Given the description of an element on the screen output the (x, y) to click on. 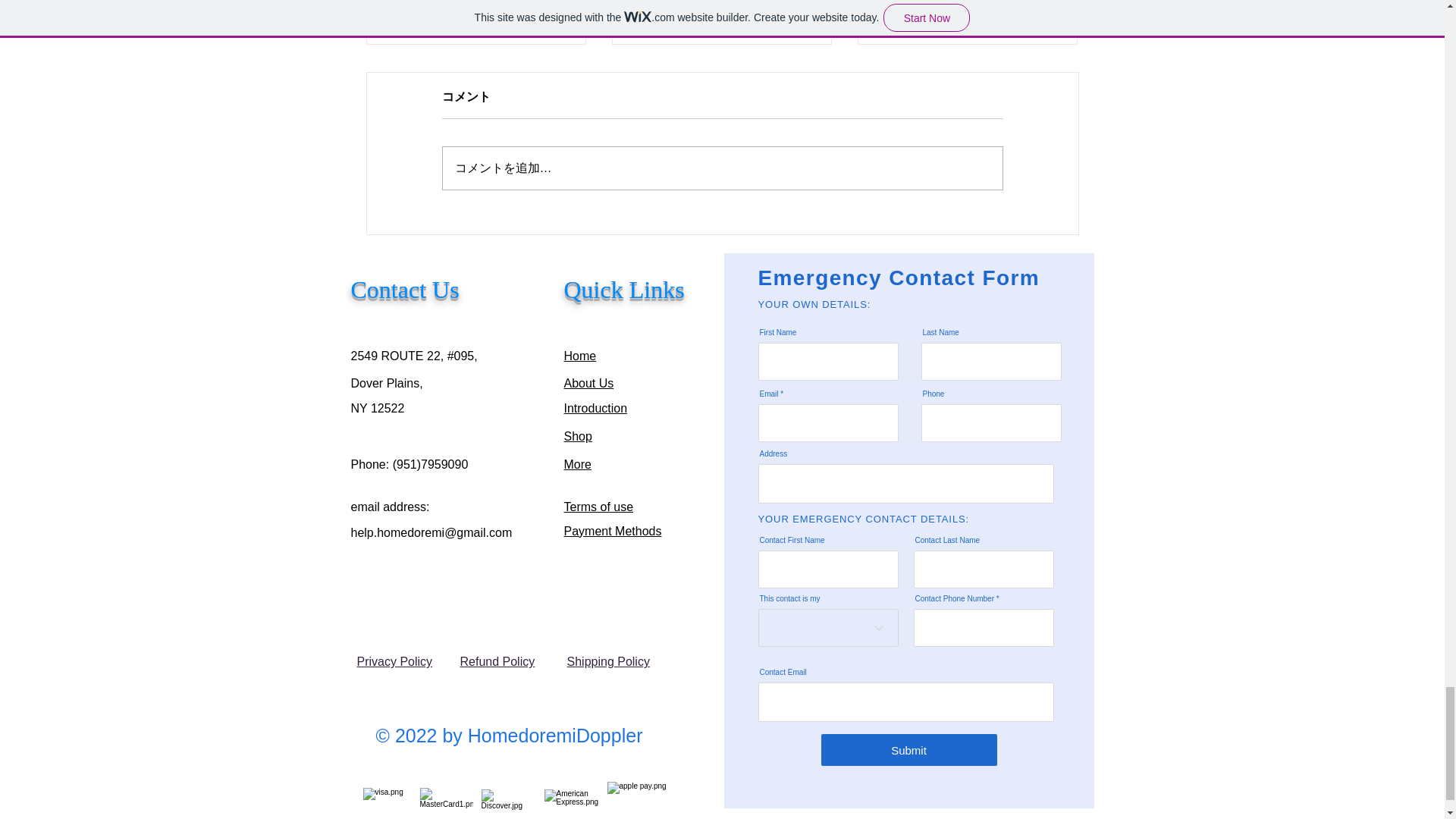
Post not marked as liked (558, 18)
Post not marked as liked (804, 18)
Quick Links (624, 289)
0 (435, 18)
0 (926, 18)
Home (580, 355)
Shop (578, 436)
Post not marked as liked (1050, 18)
More (577, 463)
Introduction (595, 408)
0 (681, 18)
About Us (589, 382)
